Given the description of an element on the screen output the (x, y) to click on. 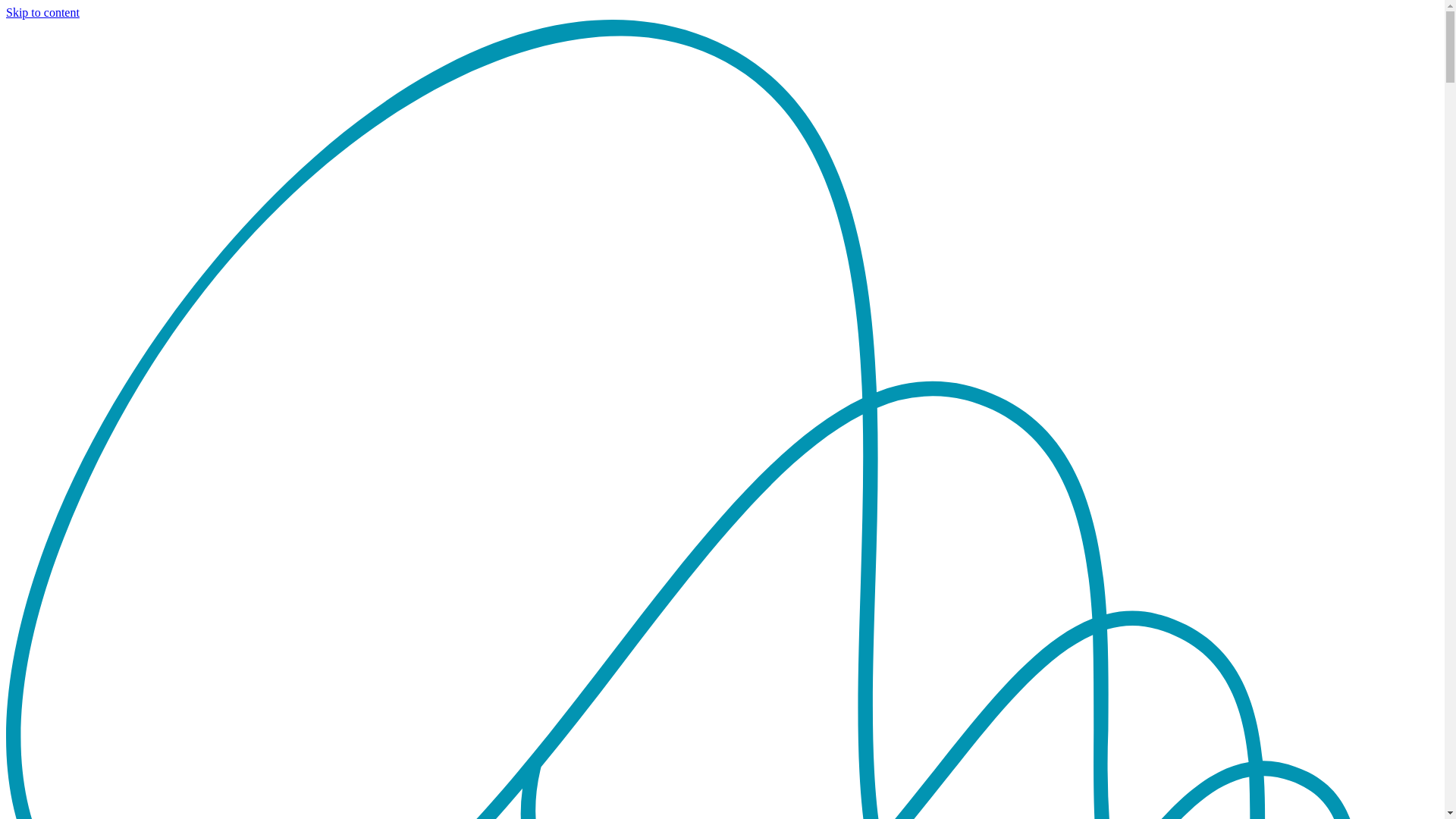
Skip to content Element type: text (42, 12)
